Given the description of an element on the screen output the (x, y) to click on. 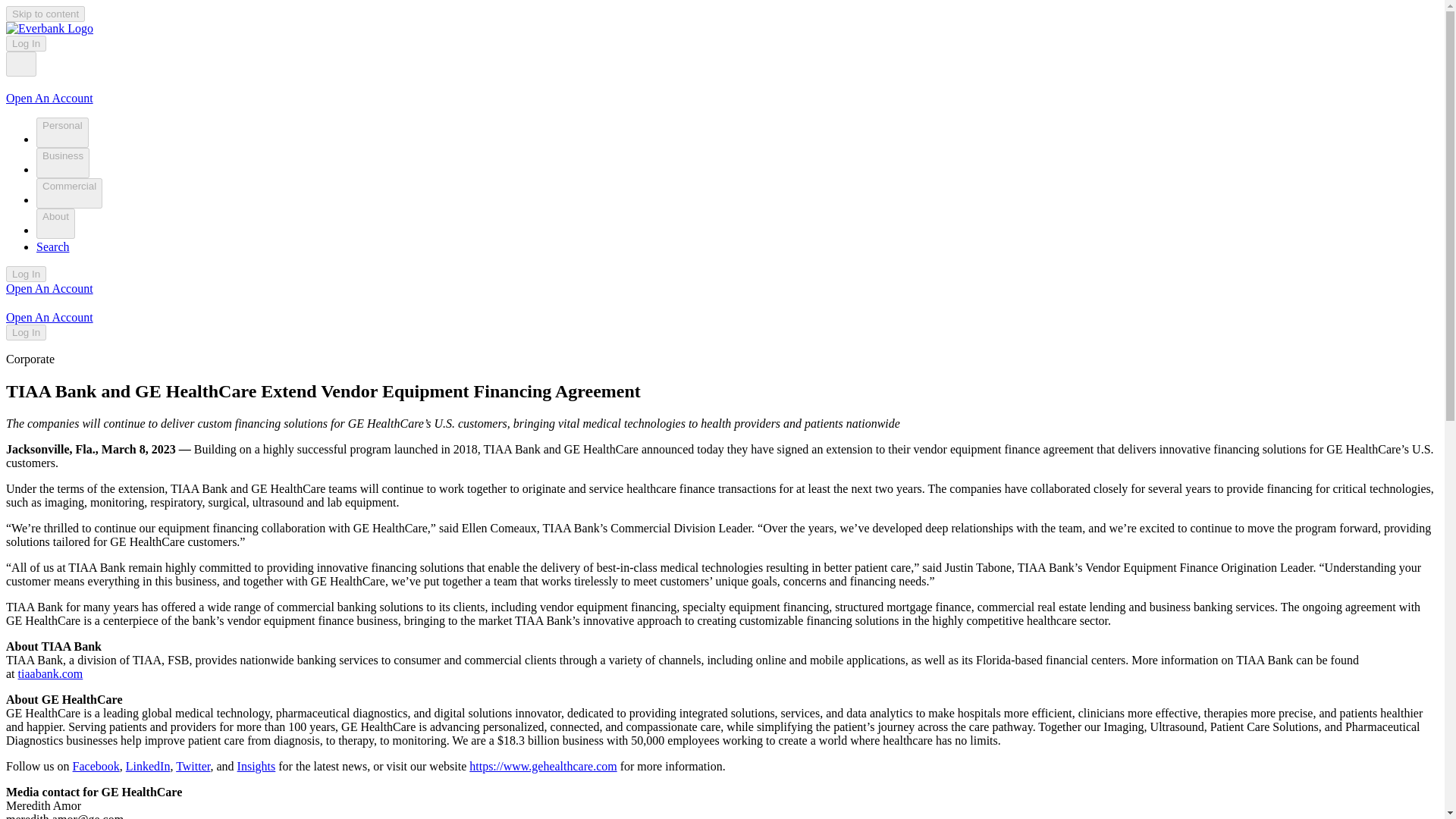
Log In (25, 332)
Log In (25, 273)
Facebook (95, 766)
Open An Account (49, 317)
Open An Account (49, 287)
Open An Account (49, 97)
Commercial (68, 193)
LinkedIn (147, 766)
About (55, 223)
Skip to content (44, 13)
Business (62, 163)
Search (58, 246)
tiaabank.com (49, 673)
Log In (25, 43)
Twitter (192, 766)
